Given the description of an element on the screen output the (x, y) to click on. 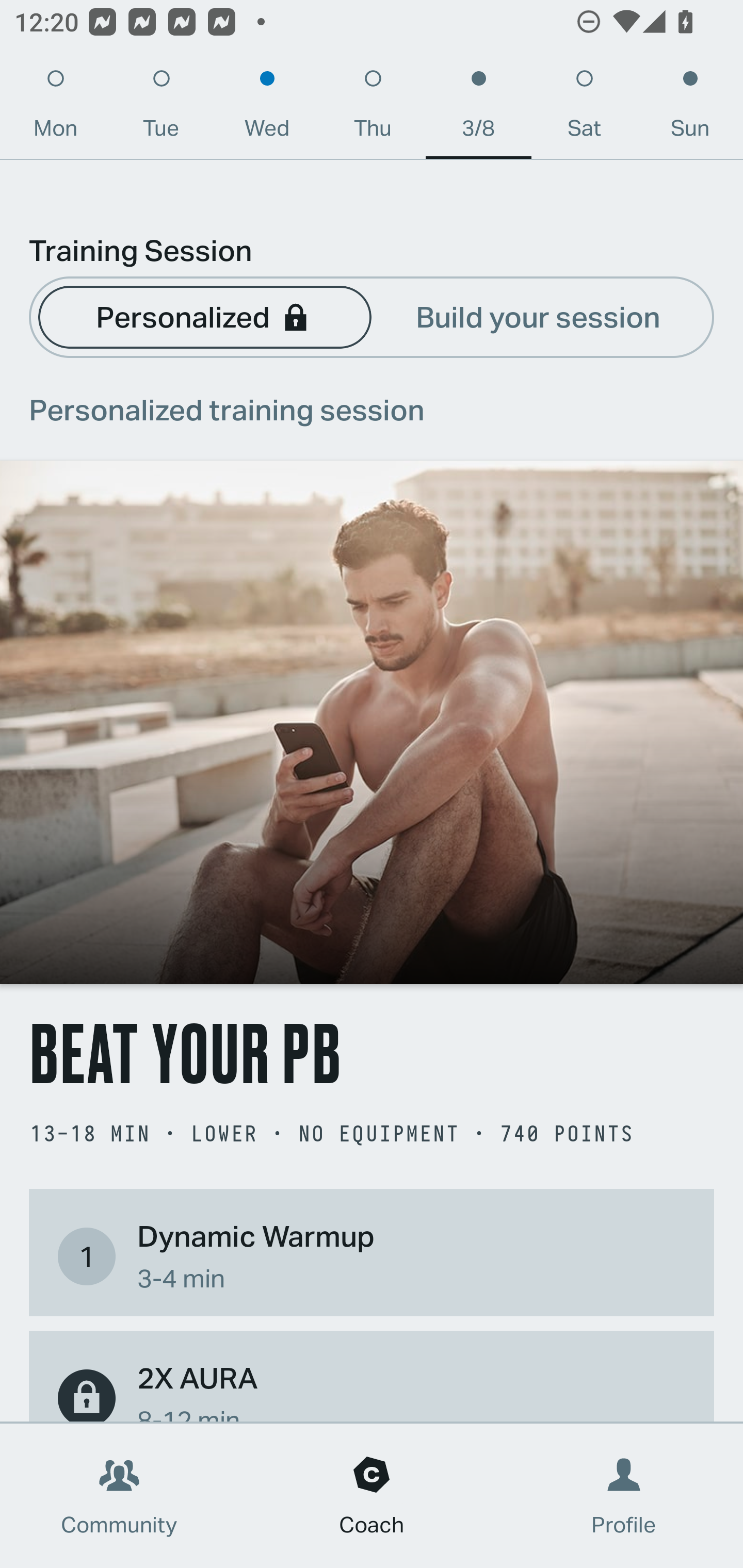
Mon (55, 108)
Tue (160, 108)
Wed (266, 108)
Thu (372, 108)
3/8 (478, 108)
Sat (584, 108)
Sun (690, 108)
Personalized (204, 315)
Build your session (538, 315)
1 Dynamic Warmup 3-4 min (371, 1256)
2X AURA 8-12 min (371, 1388)
Community (119, 1495)
Profile (624, 1495)
